Given the description of an element on the screen output the (x, y) to click on. 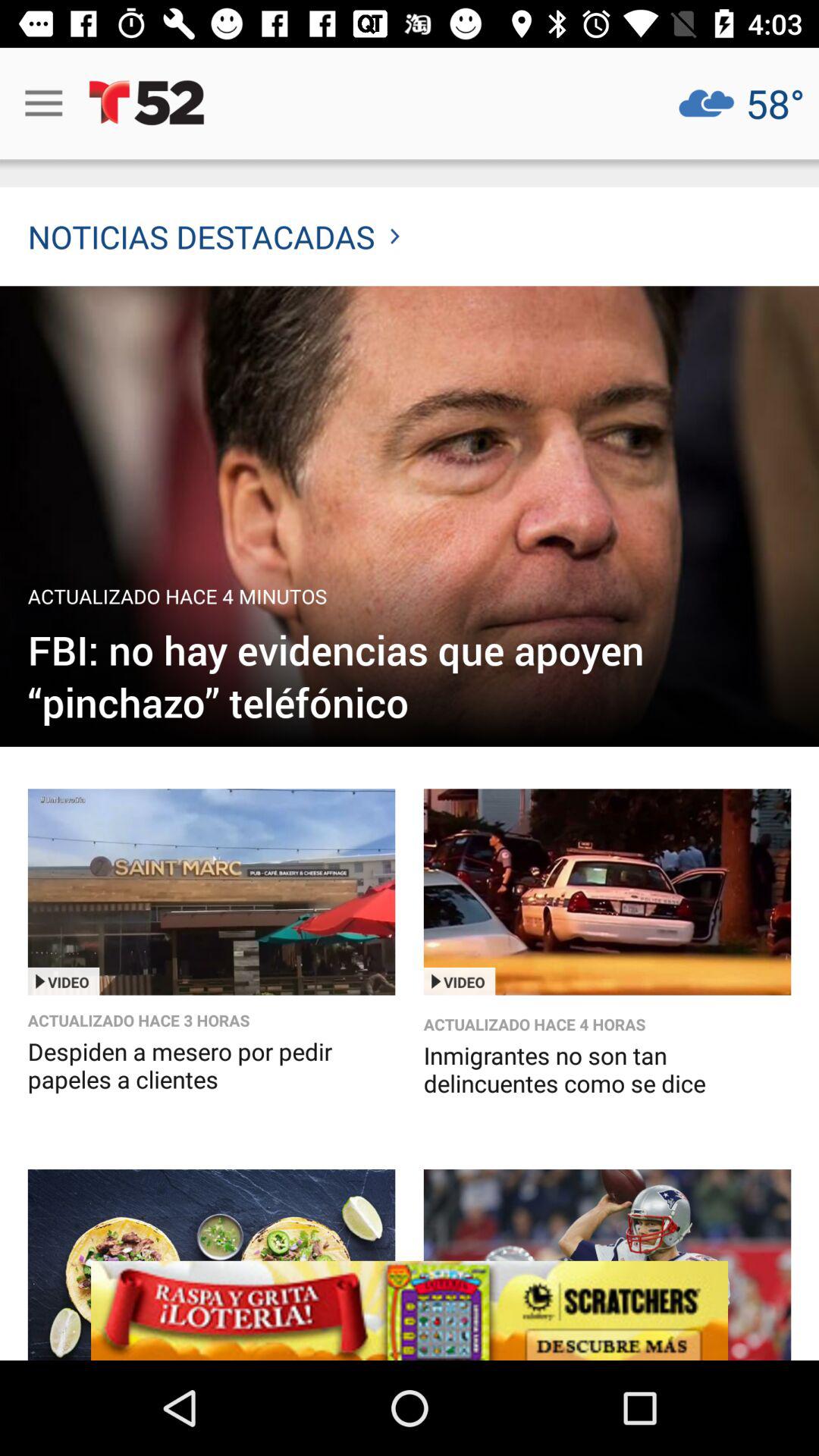
play video (211, 891)
